Given the description of an element on the screen output the (x, y) to click on. 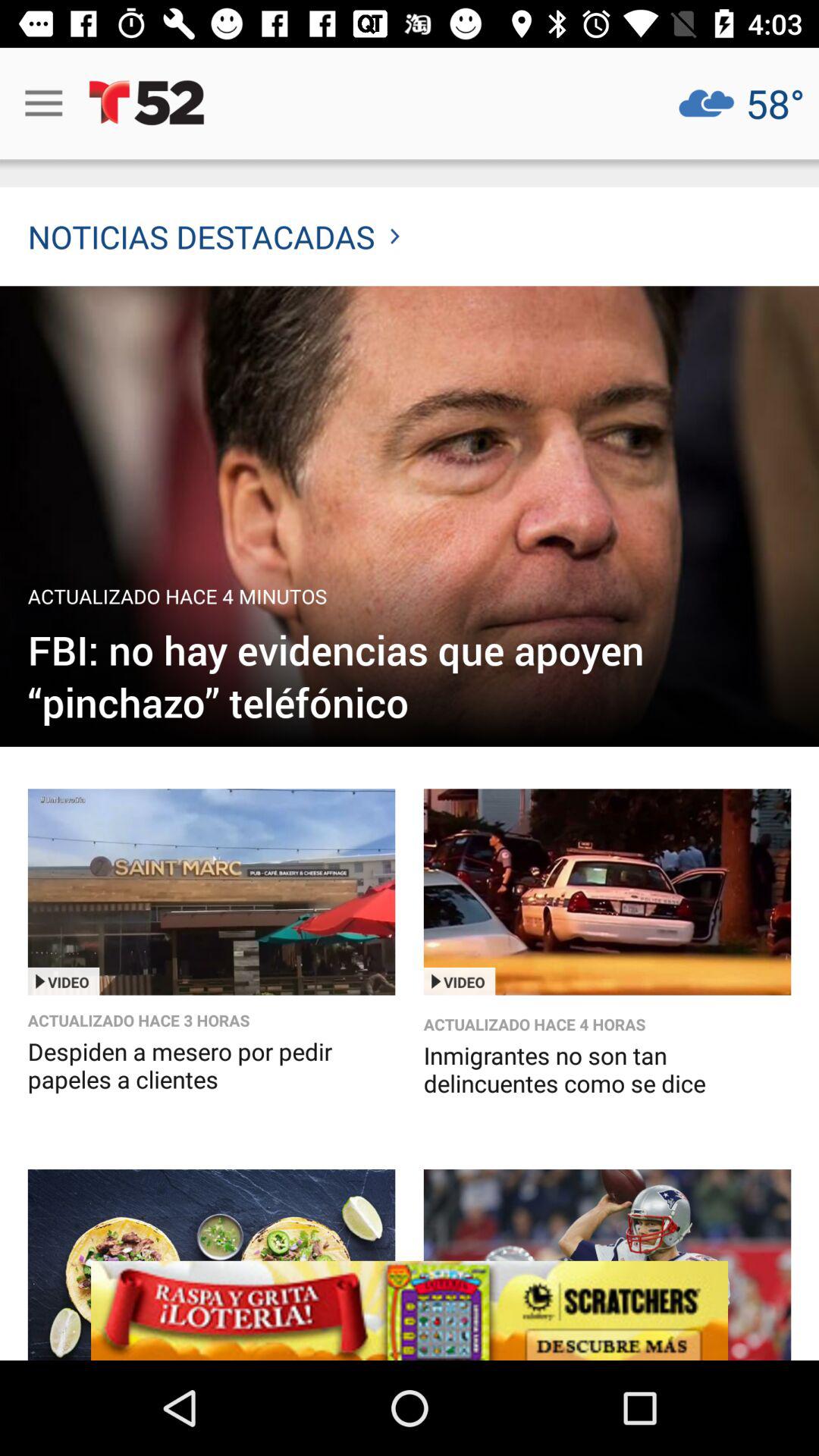
play video (211, 891)
